Given the description of an element on the screen output the (x, y) to click on. 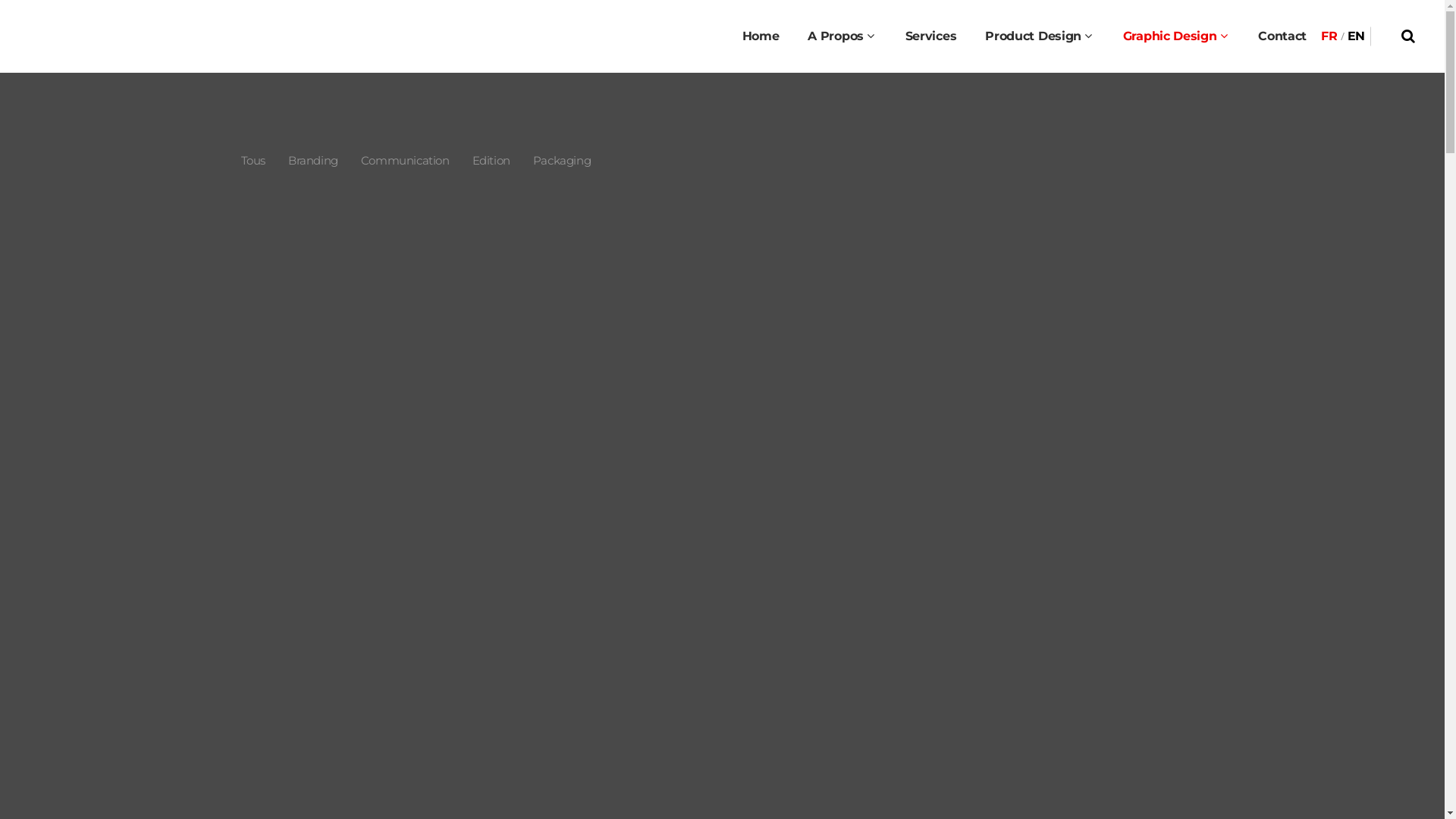
Services Element type: text (931, 36)
Graphic Design Element type: text (1176, 36)
Home Element type: text (760, 36)
A Propos Element type: text (841, 36)
EN Element type: text (1356, 36)
Product Design Element type: text (1039, 36)
Contact Element type: text (1282, 36)
